Given the description of an element on the screen output the (x, y) to click on. 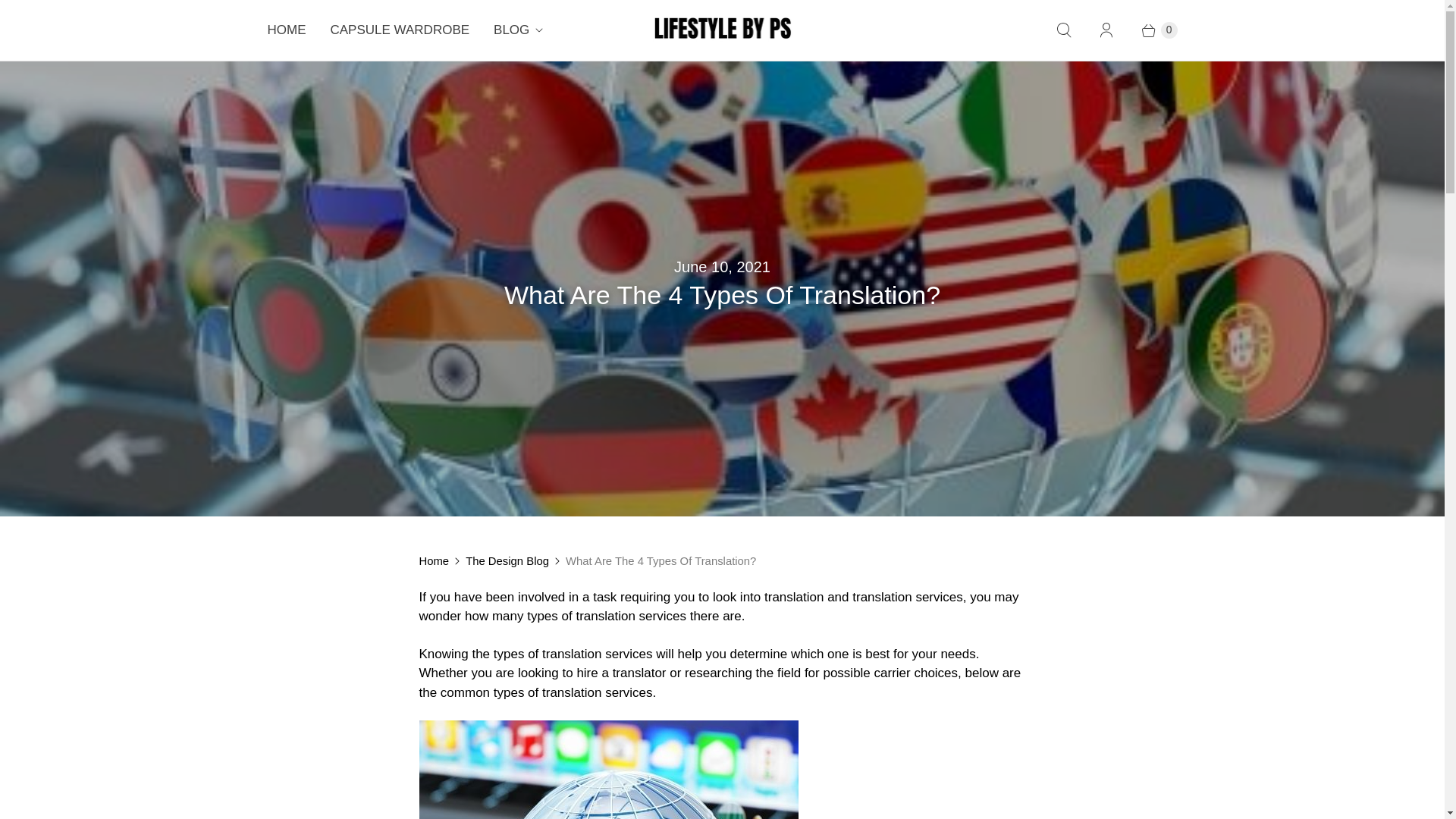
The Design Blog (506, 560)
CAPSULE WARDROBE (399, 30)
0 (1151, 30)
Home (433, 560)
HOME (285, 30)
